Given the description of an element on the screen output the (x, y) to click on. 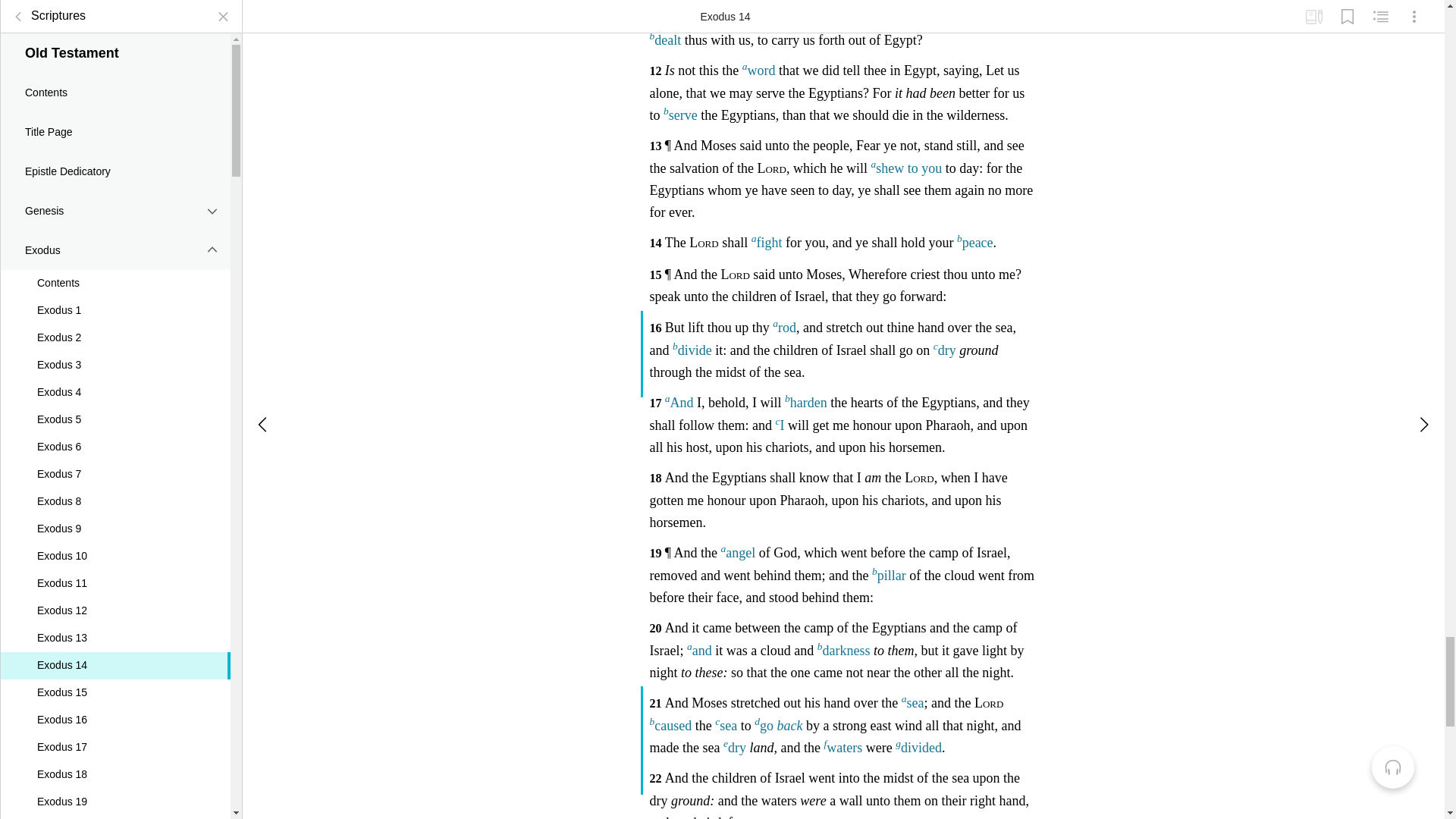
Exodus 29 (115, 244)
Exodus 32 (115, 326)
Exodus 26 (115, 162)
Exodus 25 (115, 135)
Exodus 21 (115, 26)
Exodus 22 (115, 53)
Exodus 30 (115, 271)
Exodus 28 (115, 216)
Exodus 24 (115, 108)
Exodus 20 (115, 6)
Exodus 31 (115, 298)
Exodus 23 (115, 81)
Exodus 27 (115, 189)
